Given the description of an element on the screen output the (x, y) to click on. 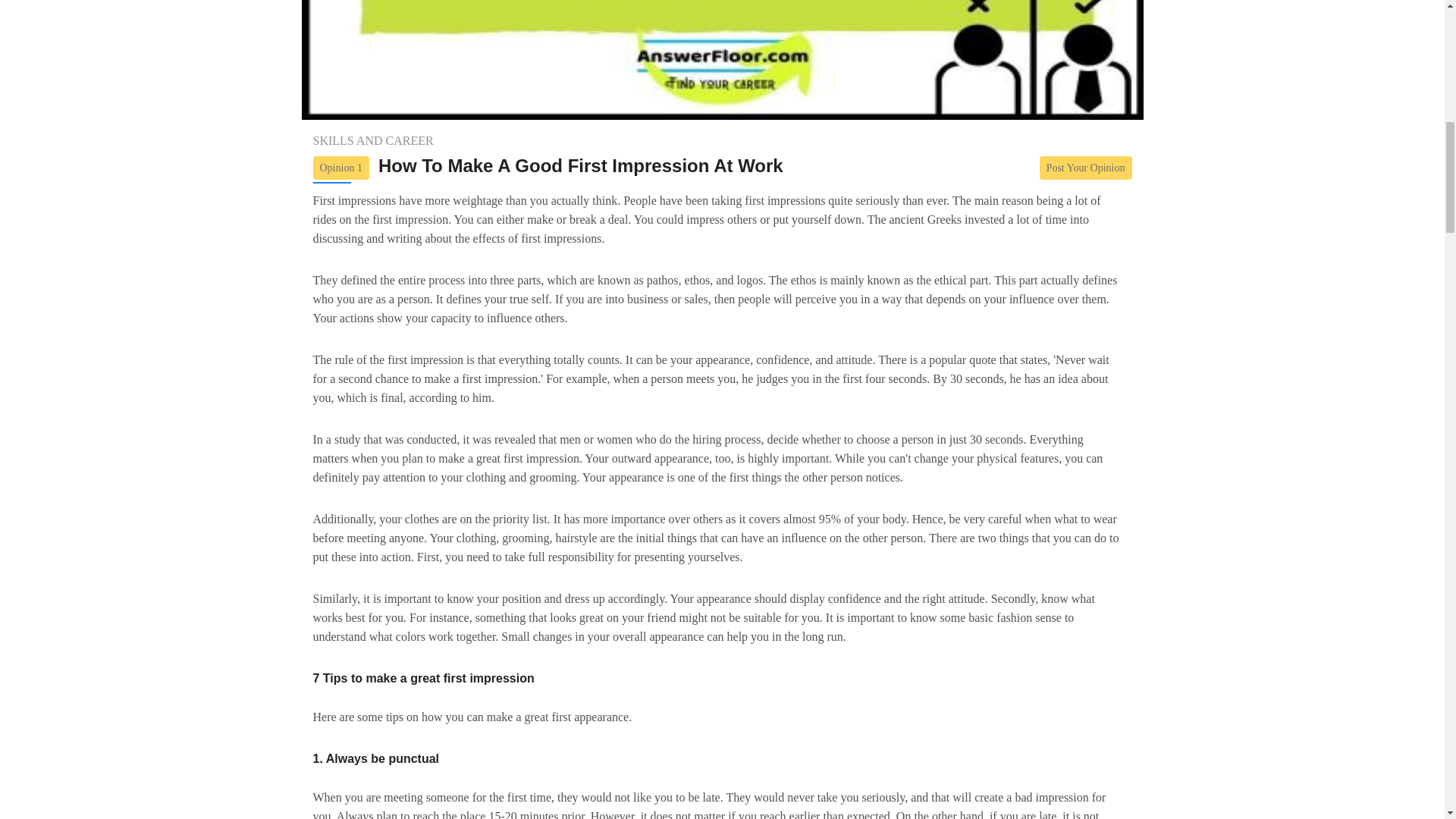
How To Make A Good First Impression At Work (580, 166)
Post Your Opinion (1085, 167)
Opinion 1 (340, 167)
SKILLS AND CAREER (372, 140)
Opinion 1   (345, 166)
Post Your Opinion (1085, 166)
